Given the description of an element on the screen output the (x, y) to click on. 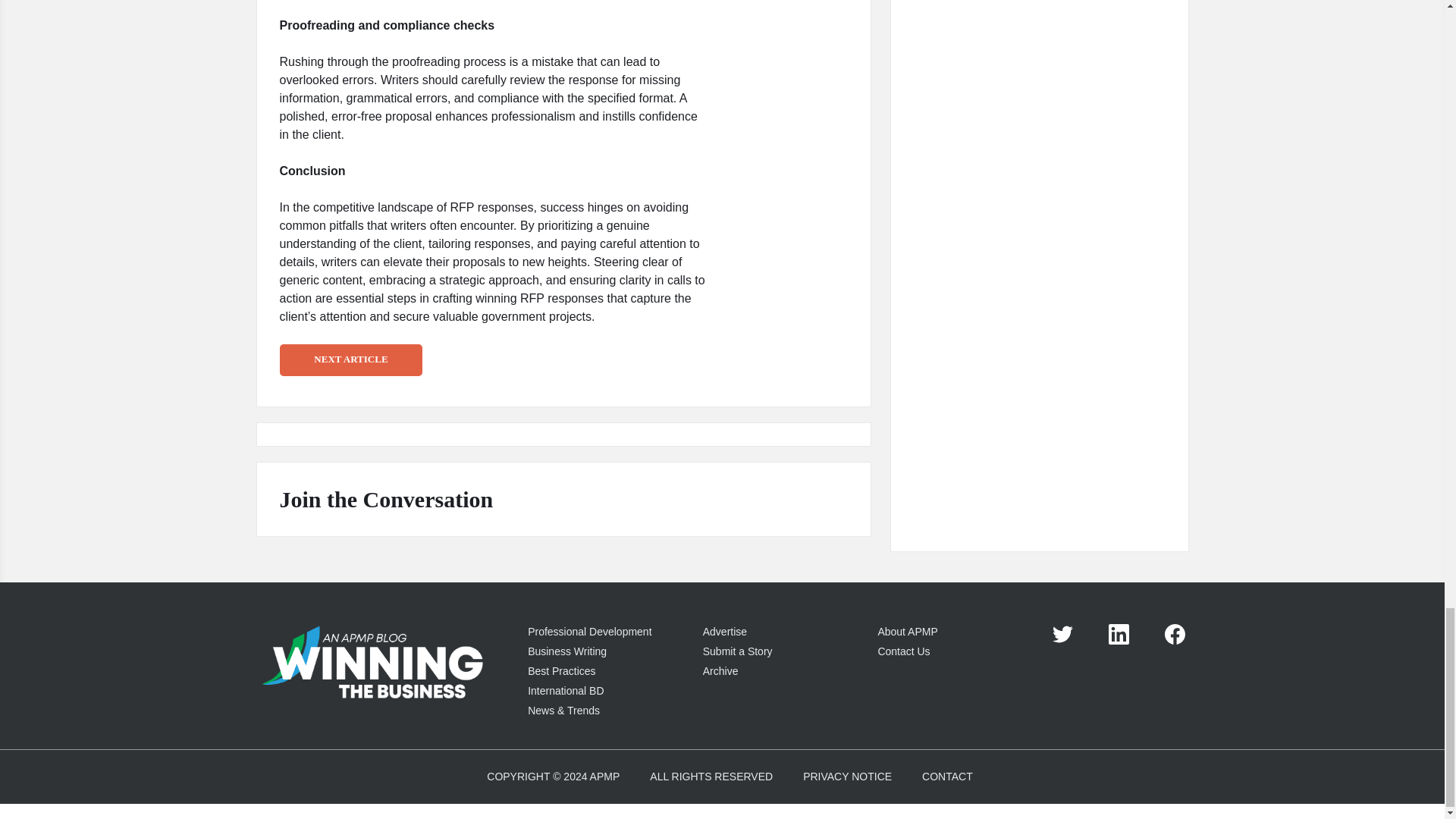
LinkedIn (1118, 634)
Facebook (1174, 634)
Twitter (1062, 634)
